Given the description of an element on the screen output the (x, y) to click on. 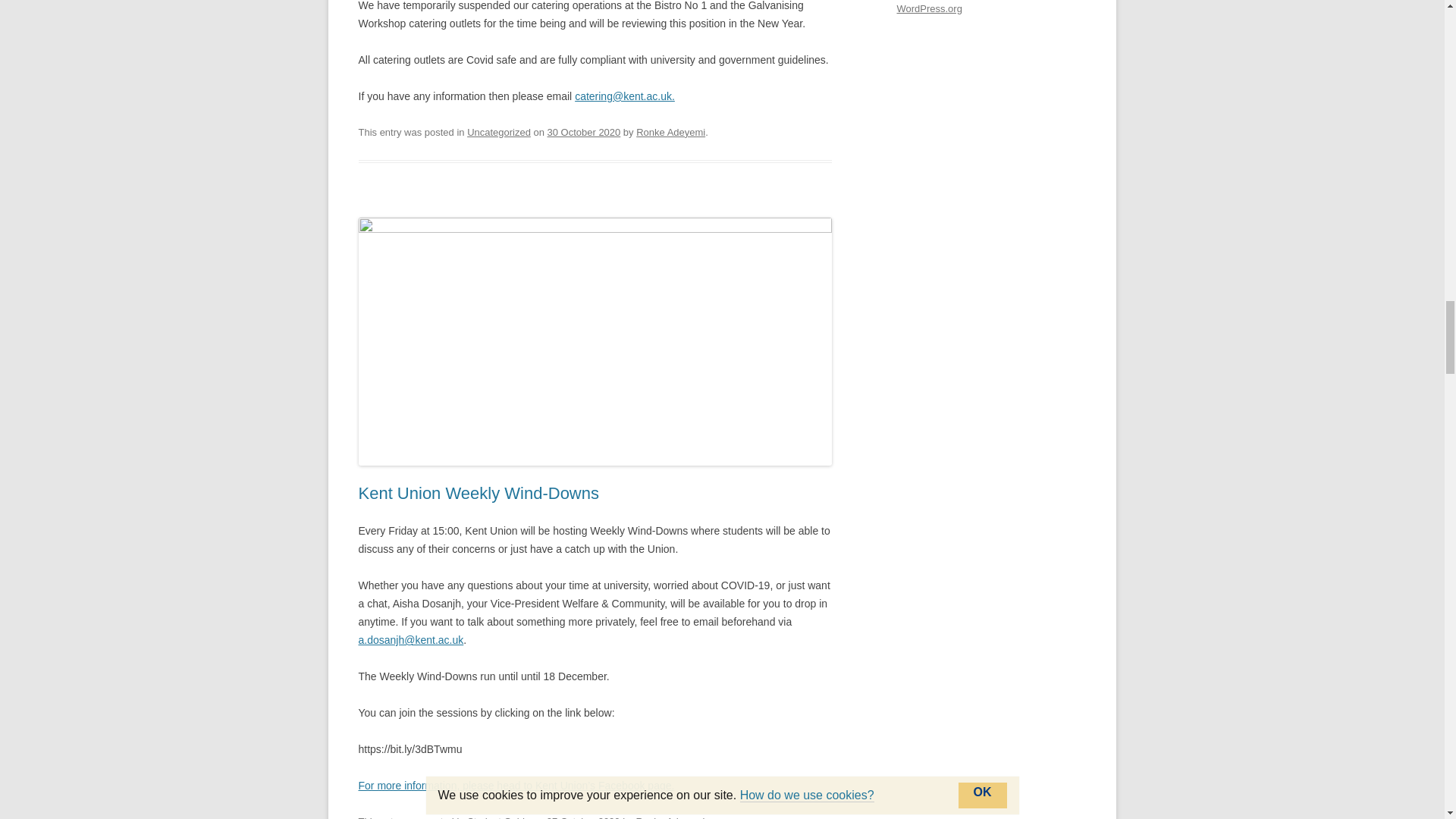
Uncategorized (499, 132)
Ronke Adeyemi (670, 132)
View all posts by Ronke Adeyemi (670, 132)
View all posts by Ronke Adeyemi (669, 817)
Student Guide (498, 817)
30 October 2020 (584, 132)
10:18 am (583, 817)
2:58 pm (584, 132)
Ronke Adeyemi (669, 817)
27 October 2020 (583, 817)
Kent Union Weekly Wind-Downs (478, 493)
